Given the description of an element on the screen output the (x, y) to click on. 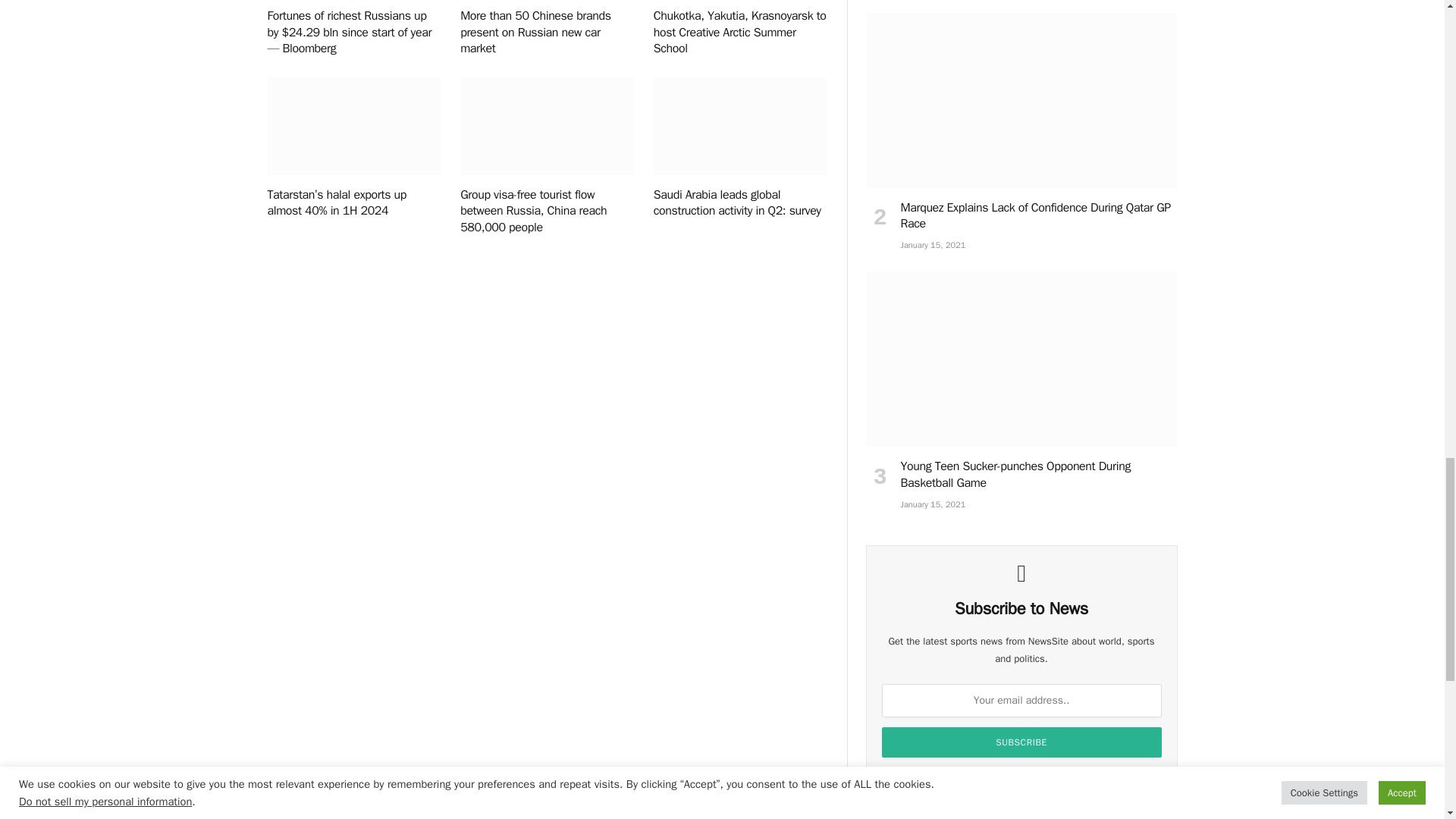
Subscribe (1021, 742)
on (898, 779)
